Given the description of an element on the screen output the (x, y) to click on. 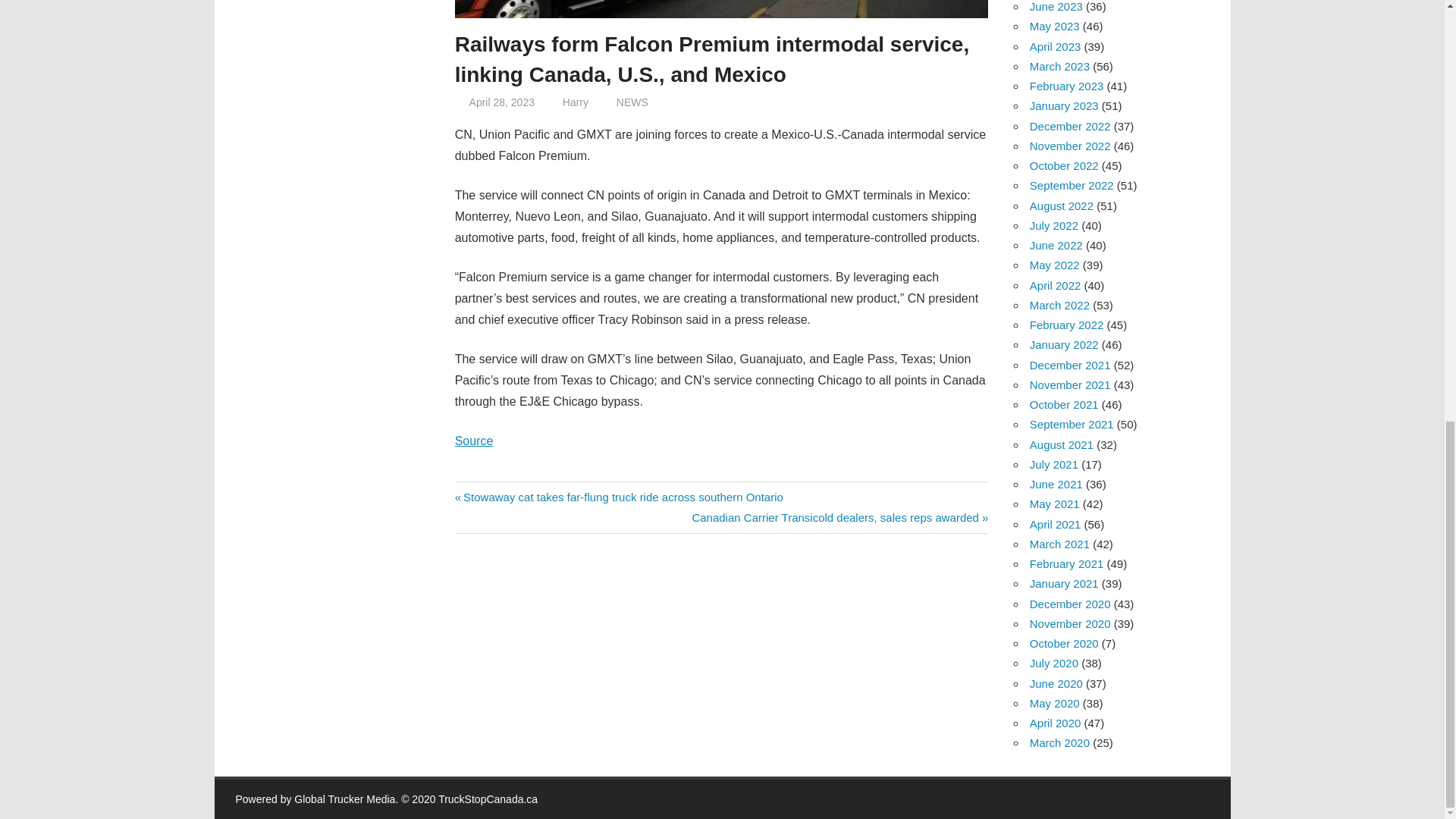
April 2023 (1055, 46)
June 2023 (1056, 6)
February 2023 (1066, 85)
November 2022 (1069, 145)
NEWS (631, 102)
January 2023 (1064, 105)
April 28, 2023 (501, 102)
September 2022 (1071, 185)
May 2023 (1054, 25)
March 2023 (1059, 65)
December 2022 (1069, 125)
1:13 pm (501, 102)
August 2022 (1061, 205)
View all posts by Harry (575, 102)
